Given the description of an element on the screen output the (x, y) to click on. 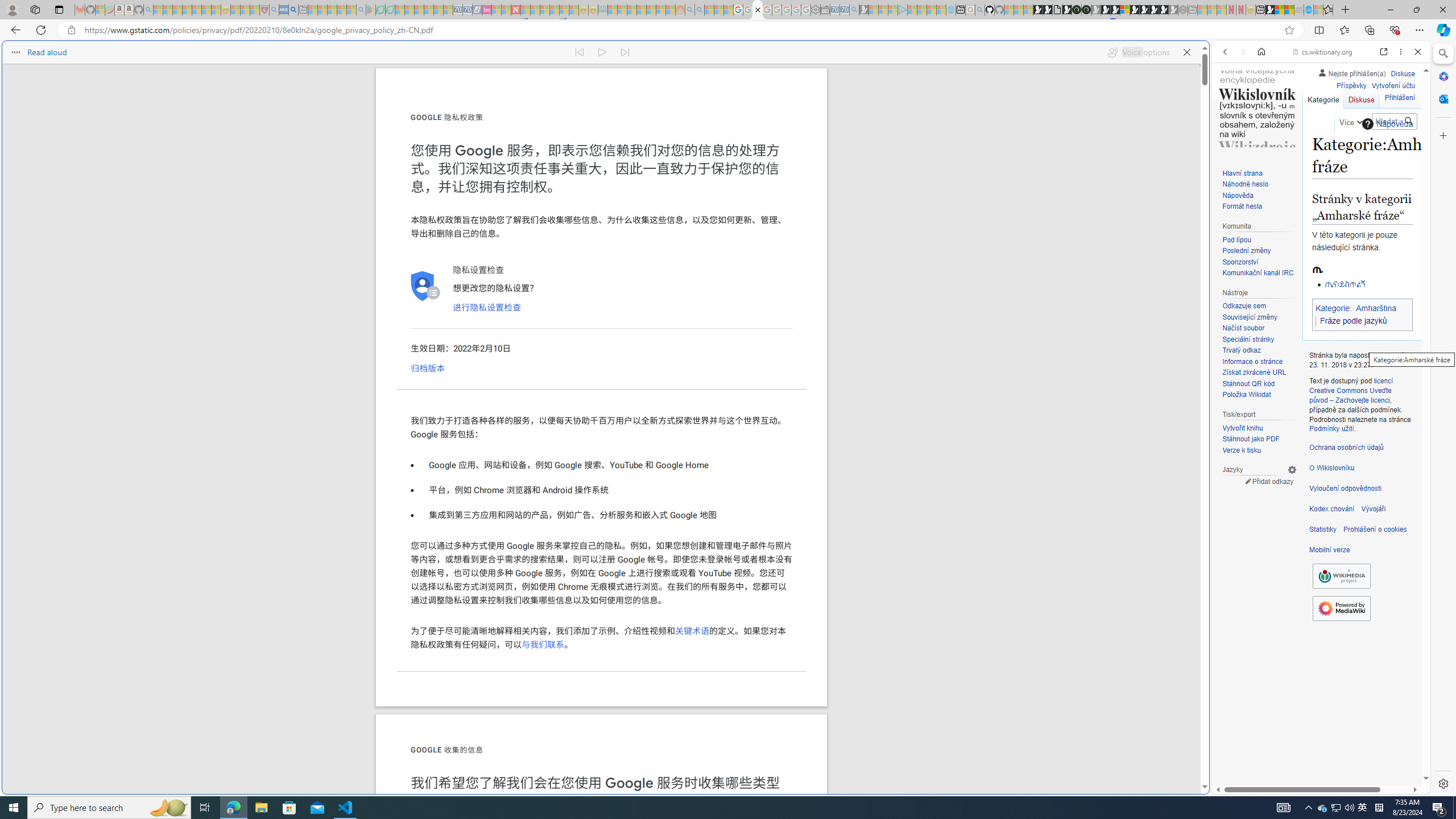
Play Free Online Games | Games from Microsoft Start (1144, 9)
Close Customize pane (1442, 135)
14 Common Myths Debunked By Scientific Facts - Sleeping (534, 9)
google_privacy_policy_zh-CN.pdf (1118, 683)
